Given the description of an element on the screen output the (x, y) to click on. 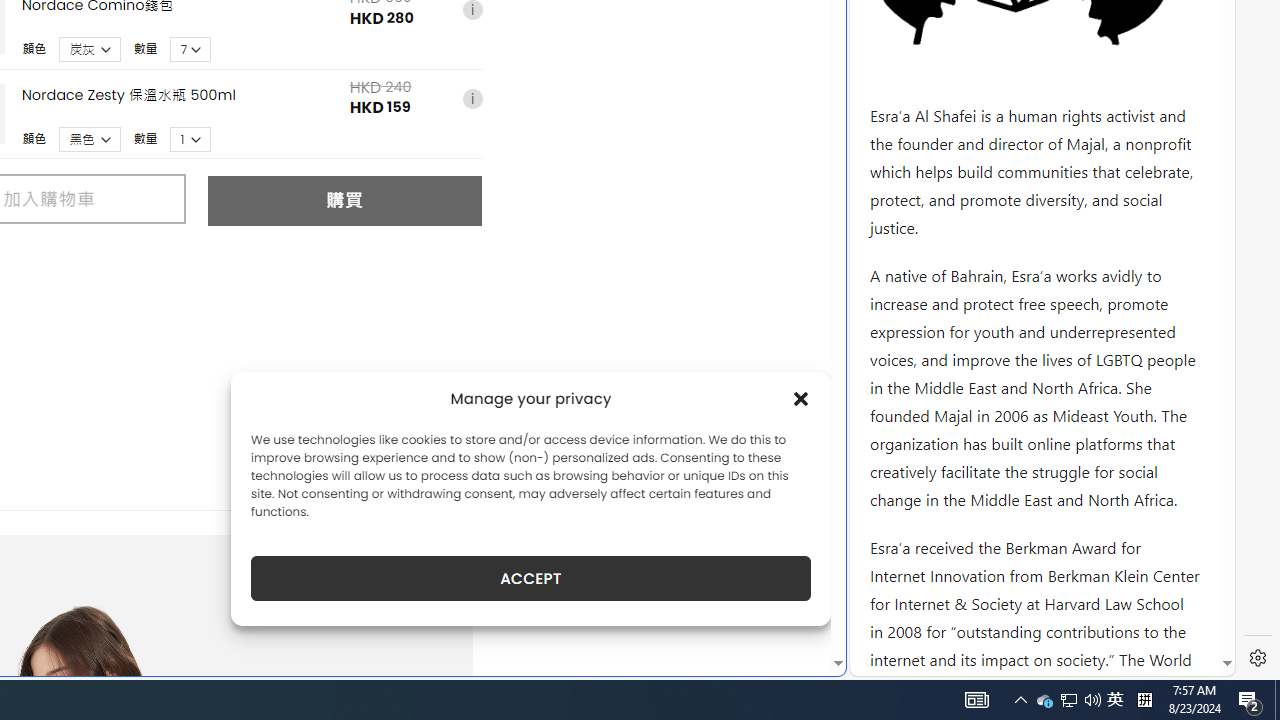
ACCEPT (530, 578)
Class: upsell-v2-product-upsell-variable-product-qty-select (191, 139)
Class: cmplz-close (801, 398)
